Given the description of an element on the screen output the (x, y) to click on. 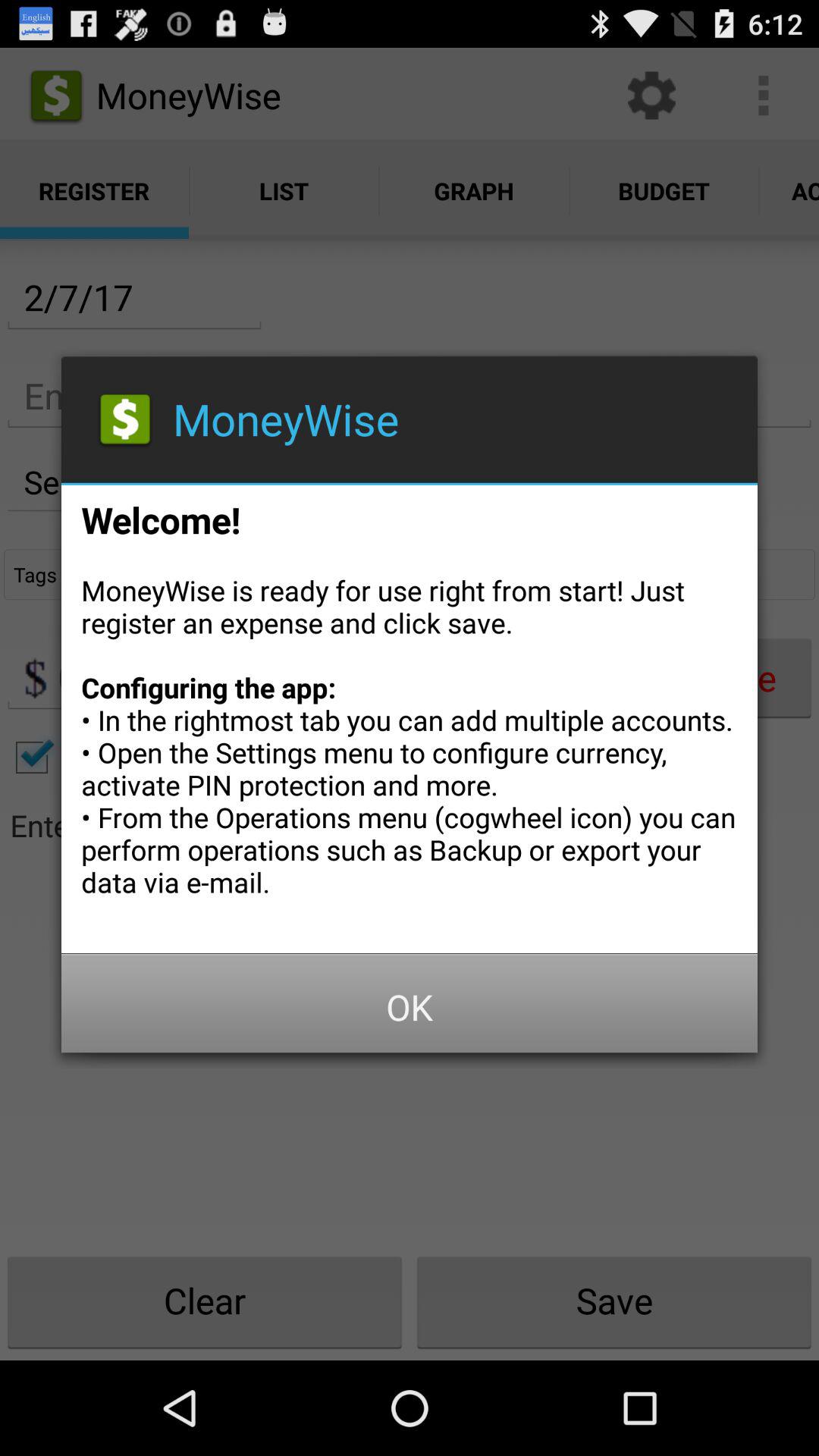
swipe to the ok item (409, 1007)
